Given the description of an element on the screen output the (x, y) to click on. 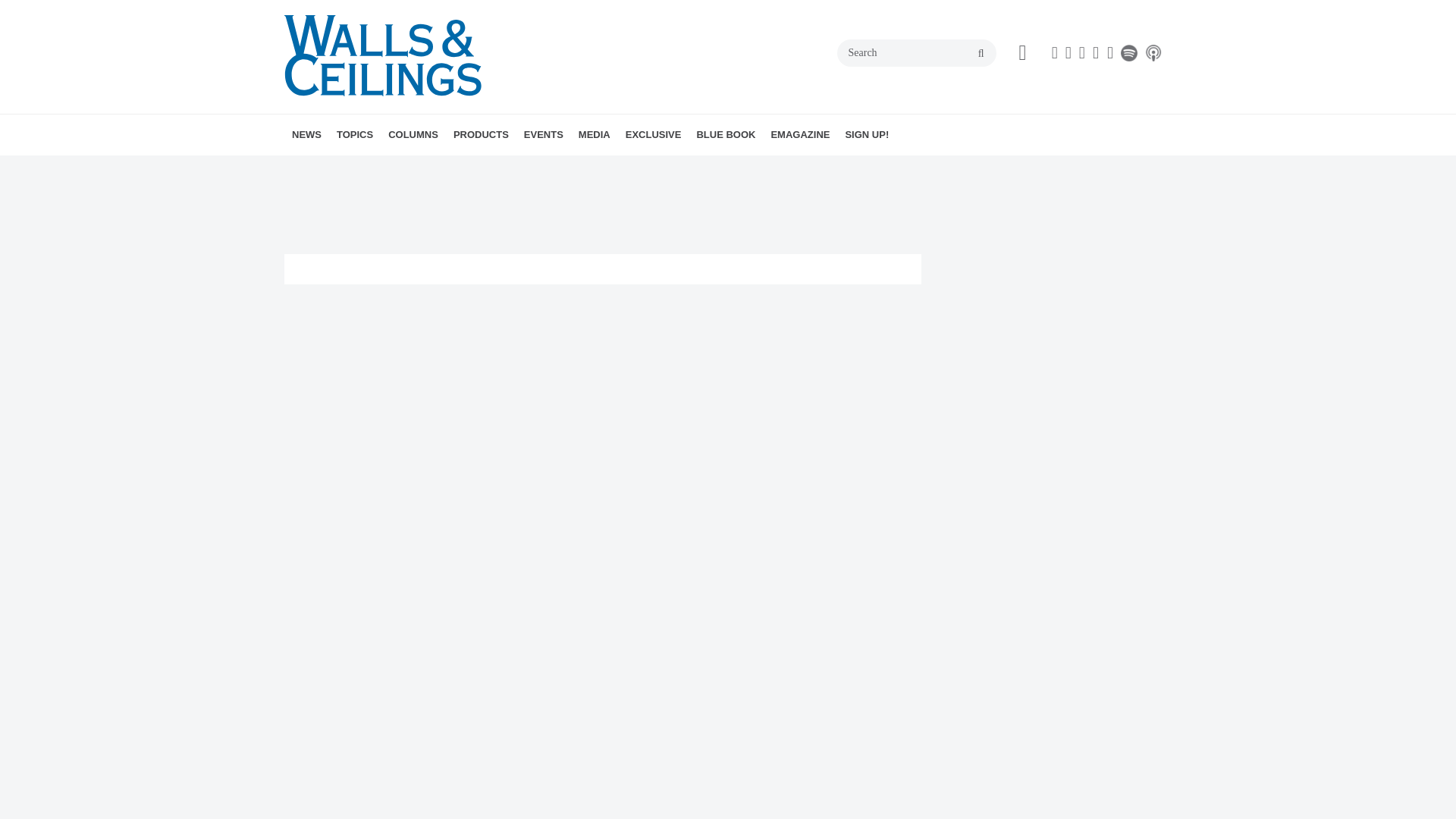
PLASTER (451, 167)
METAL FRAMING (442, 167)
Search (916, 52)
ALL THINGS GYPSUM (475, 167)
NEWS (306, 134)
EXTERIOR (468, 167)
INSULATION (461, 167)
UP FRONT (499, 167)
TOOLS AND SOFTWARE (462, 167)
DRYWALL (423, 167)
